Given the description of an element on the screen output the (x, y) to click on. 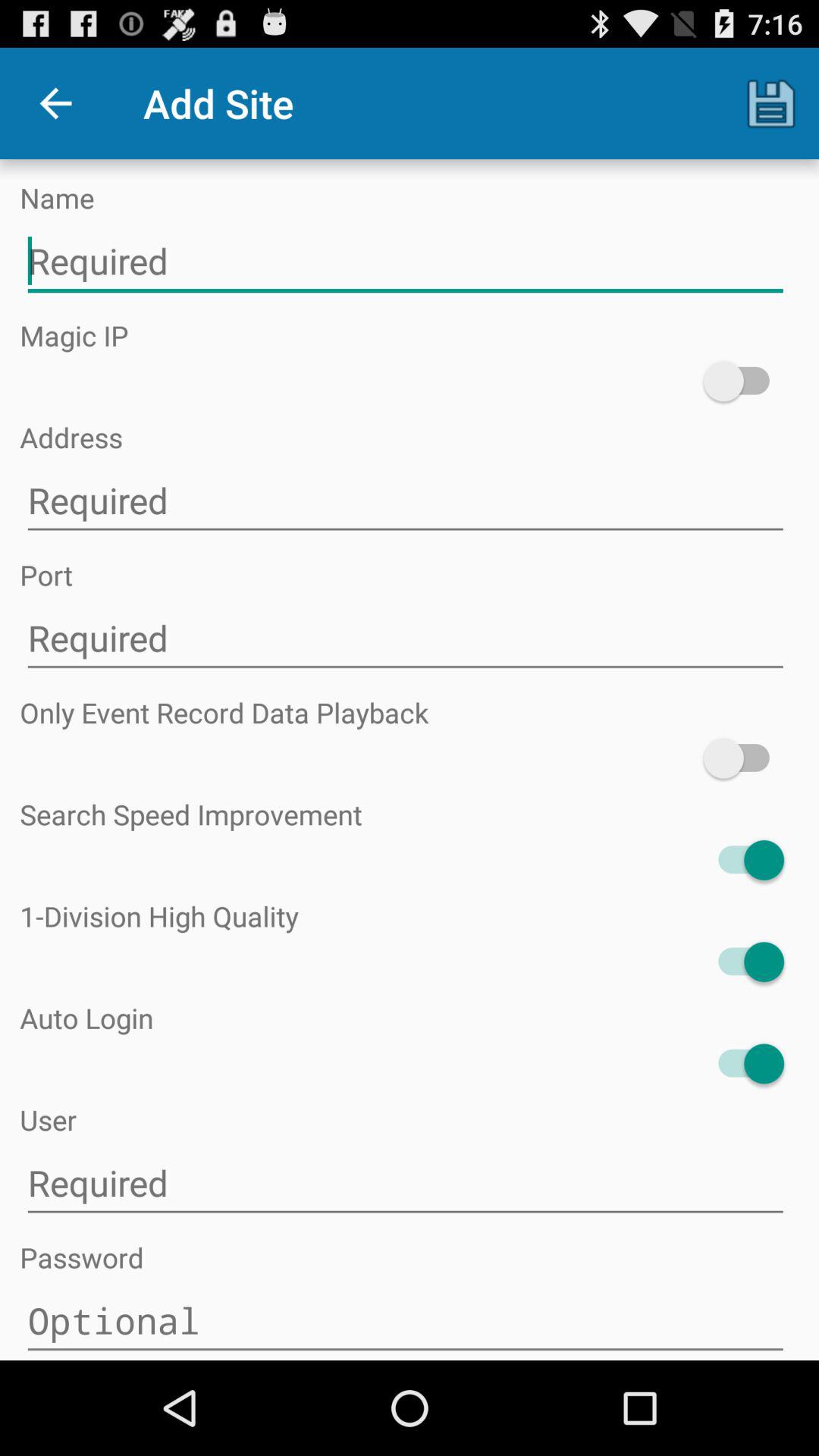
type text (405, 638)
